Given the description of an element on the screen output the (x, y) to click on. 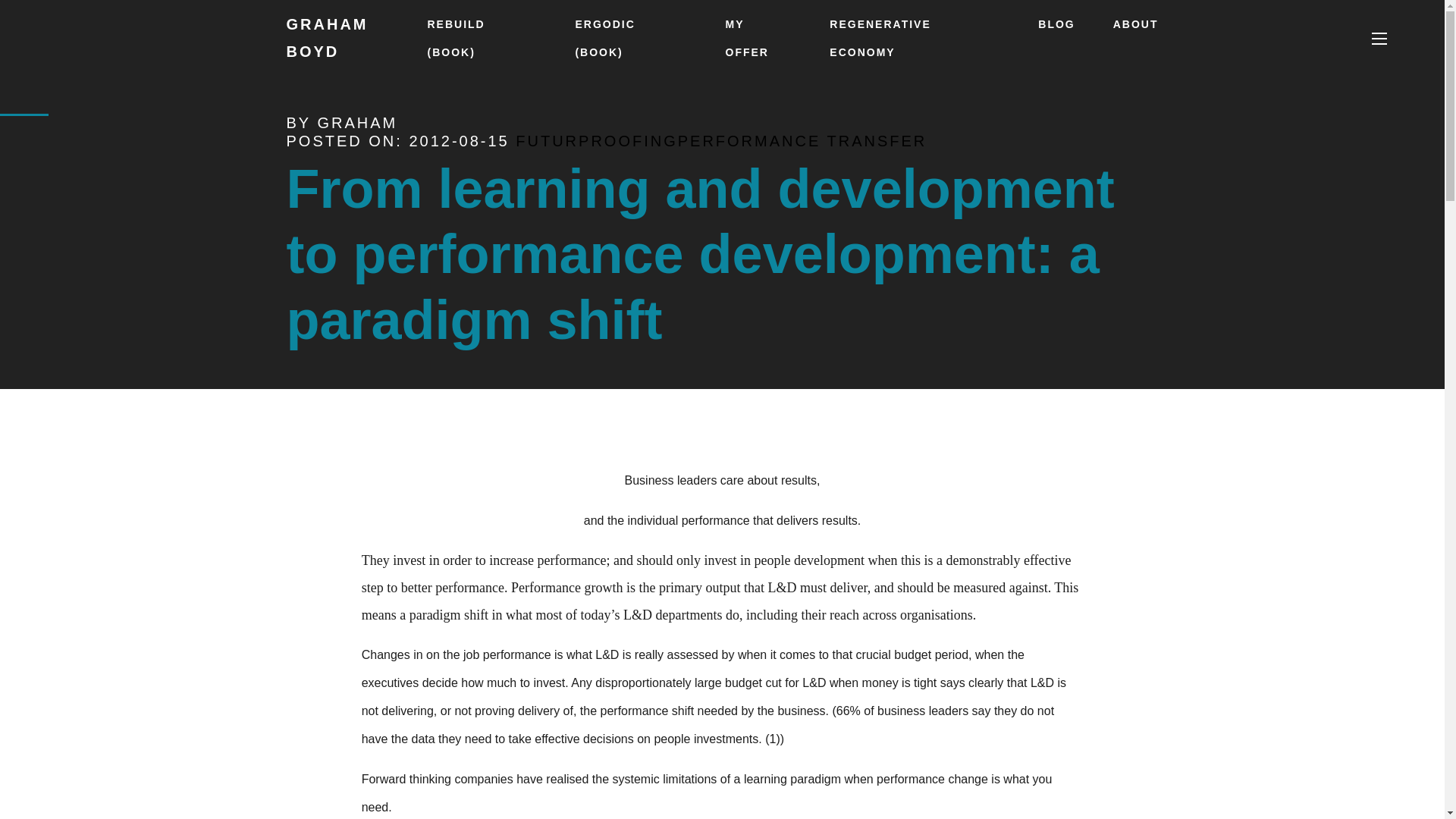
BLOG (1056, 24)
REGENERATIVE ECONOMY (879, 38)
FUTURPROOFING (596, 140)
GRAHAM BOYD (357, 37)
PERFORMANCE TRANSFER (802, 140)
ABOUT (1135, 24)
MY OFFER (746, 38)
